Given the description of an element on the screen output the (x, y) to click on. 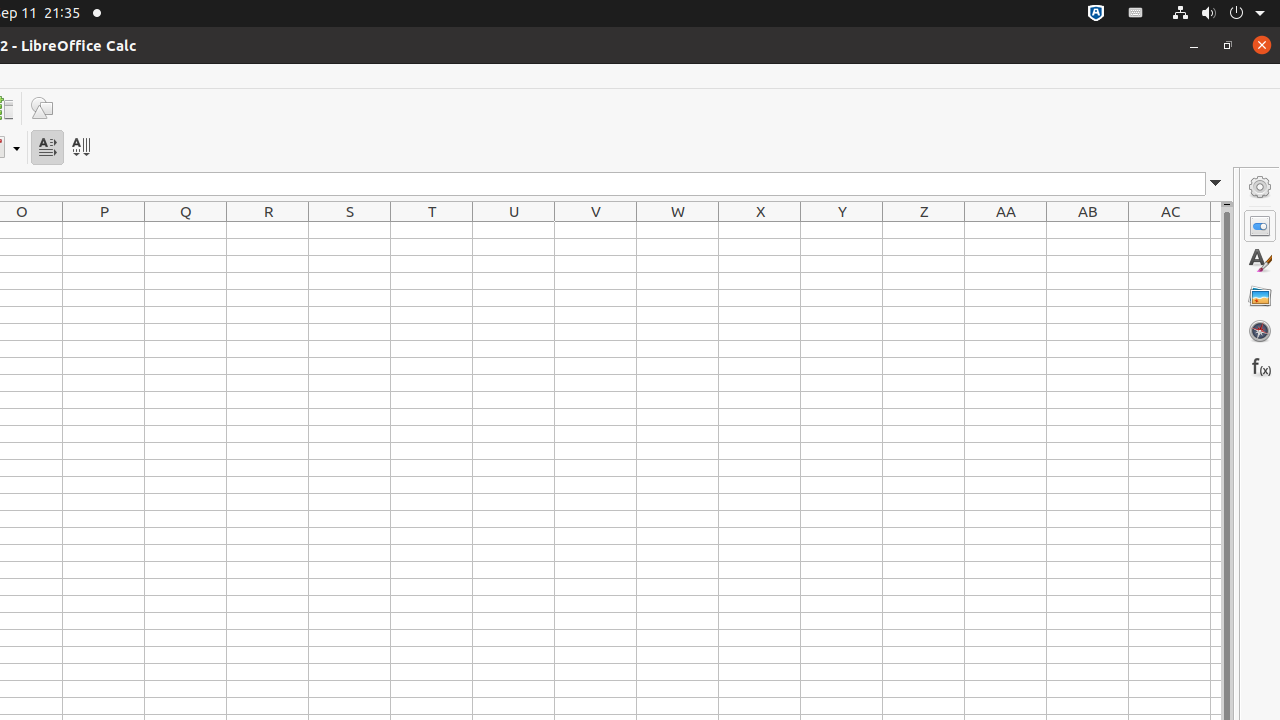
Navigator Element type: radio-button (1260, 331)
Gallery Element type: radio-button (1260, 296)
Styles Element type: radio-button (1260, 261)
Q1 Element type: table-cell (186, 230)
AC1 Element type: table-cell (1170, 230)
